Given the description of an element on the screen output the (x, y) to click on. 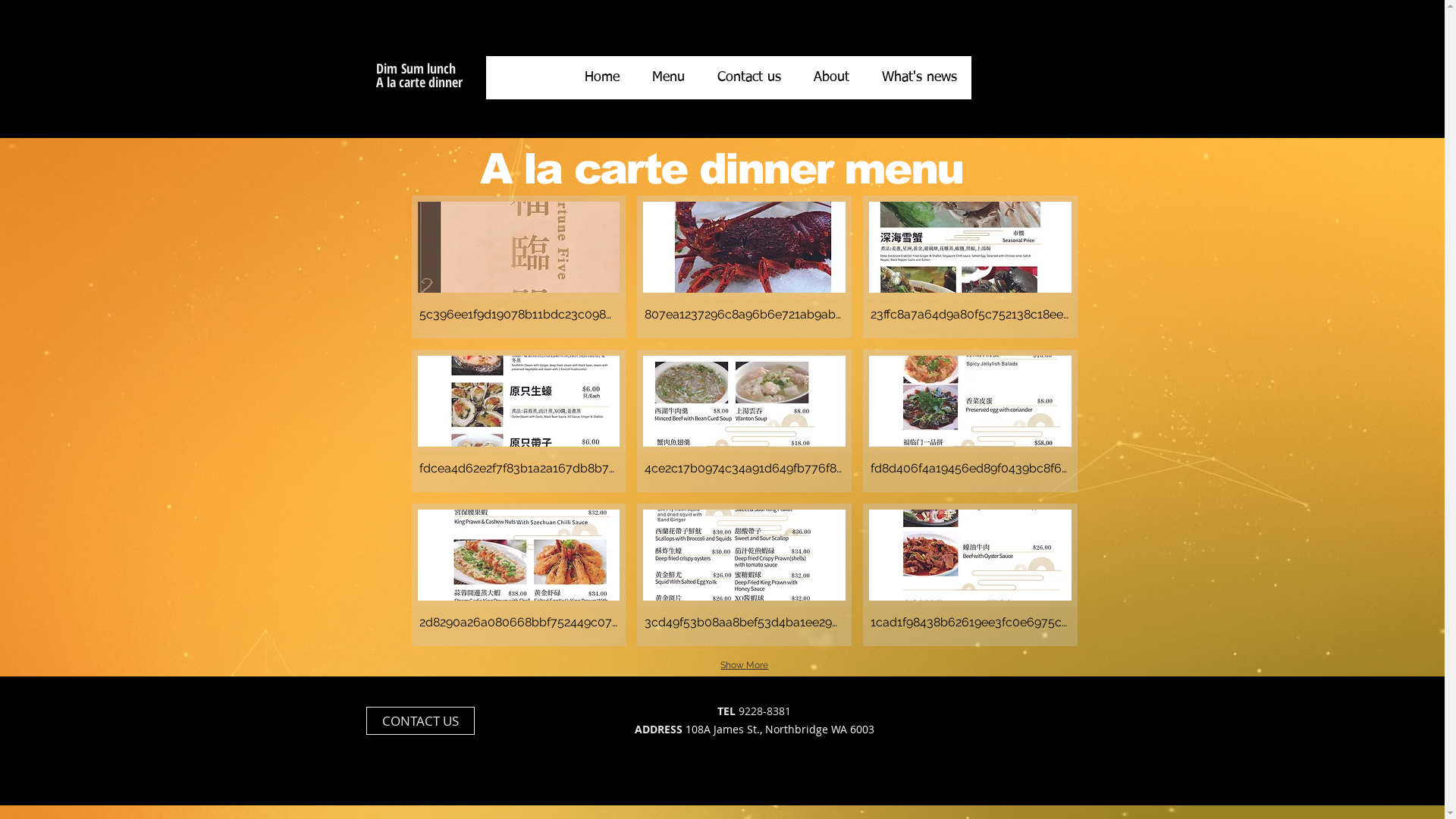
Show More Element type: text (744, 664)
What's news Element type: text (919, 77)
CONTACT US Element type: text (419, 720)
About Element type: text (831, 77)
Restaurant Social Bar Element type: hover (493, 718)
Home Element type: text (601, 77)
Contact us Element type: text (748, 77)
